Given the description of an element on the screen output the (x, y) to click on. 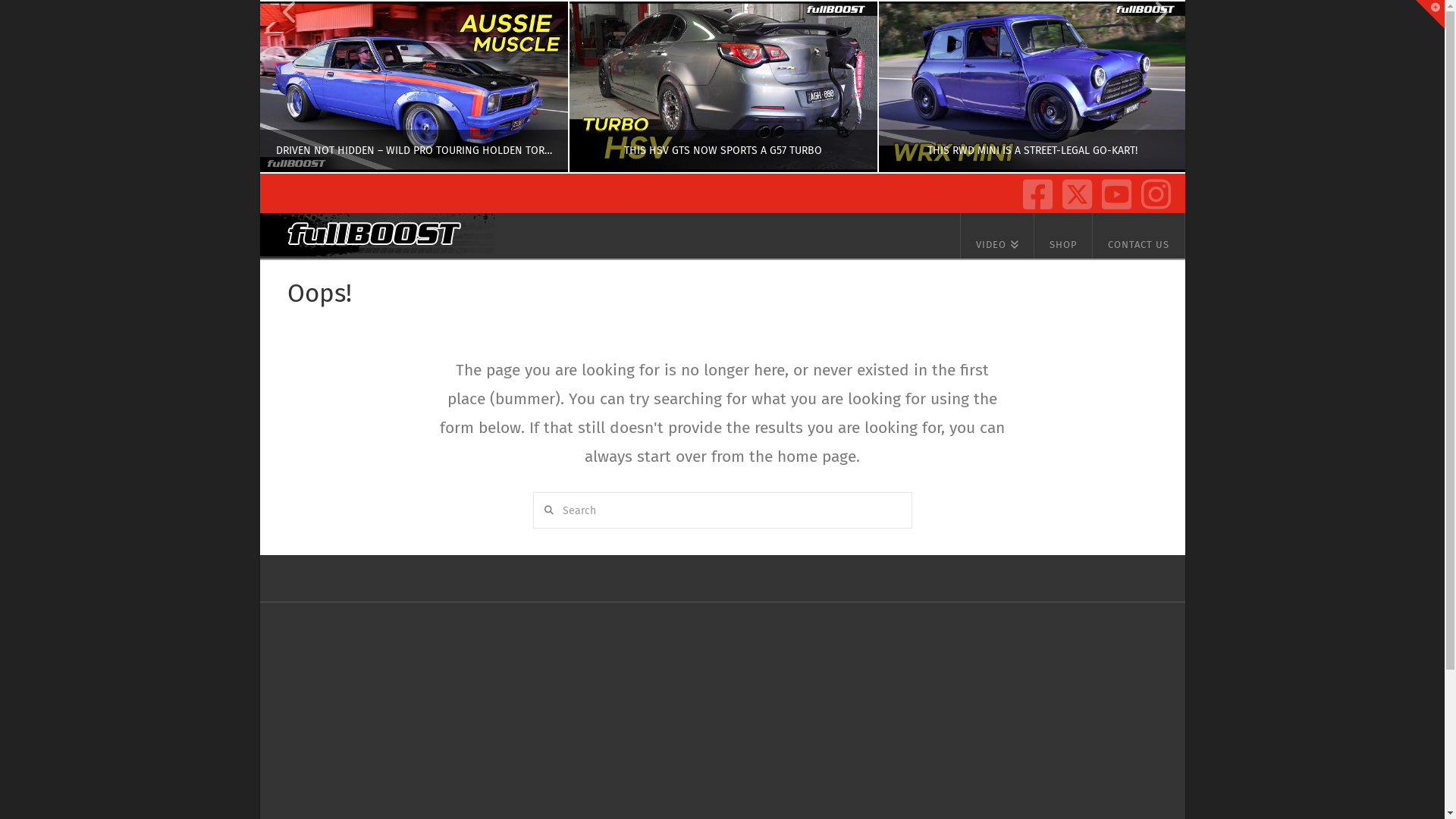
SHOP Element type: text (1063, 235)
YouTube Element type: hover (1113, 190)
Advertisement Element type: hover (714, 708)
THIS HSV GTS NOW SPORTS A G57 TURBO Element type: text (721, 86)
Next Element type: text (1152, 86)
Previous Element type: text (289, 86)
CONTACT US Element type: text (1138, 235)
Facebook Element type: hover (1034, 190)
X / Twitter Element type: hover (1073, 190)
VIDEO Element type: text (997, 235)
THIS RWD MINI IS A STREET-LEGAL GO-KART! Element type: text (1031, 86)
Instagram Element type: hover (1152, 190)
Toggle the Widgetbar Element type: text (1429, 14)
